Given the description of an element on the screen output the (x, y) to click on. 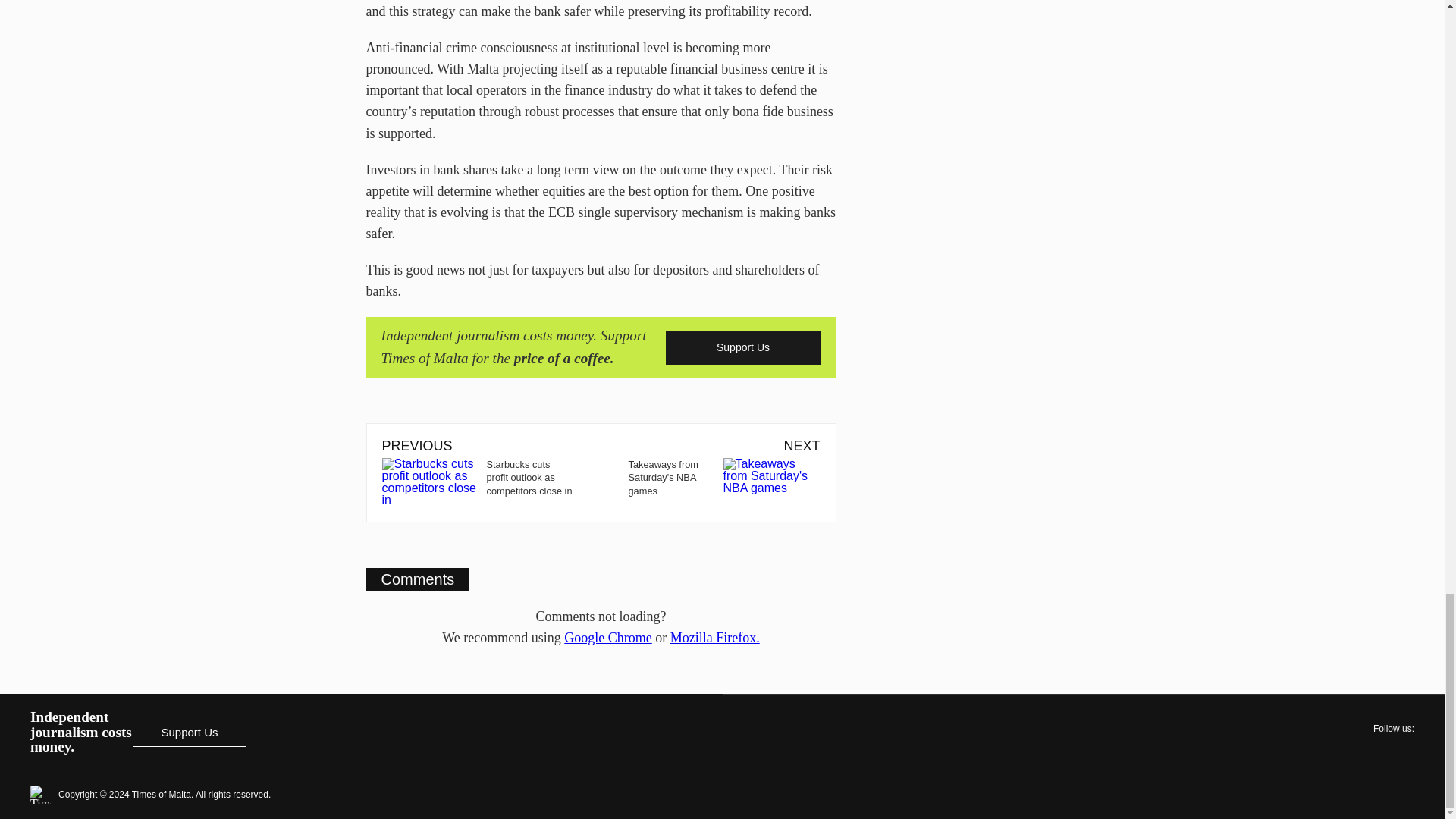
Support Us (743, 347)
Mozilla Firefox. (714, 637)
Google Chrome (607, 637)
Support Us (189, 731)
Starbucks cuts profit outlook as competitors close in (491, 481)
Takeaways from Saturday's NBA games (709, 477)
